Given the description of an element on the screen output the (x, y) to click on. 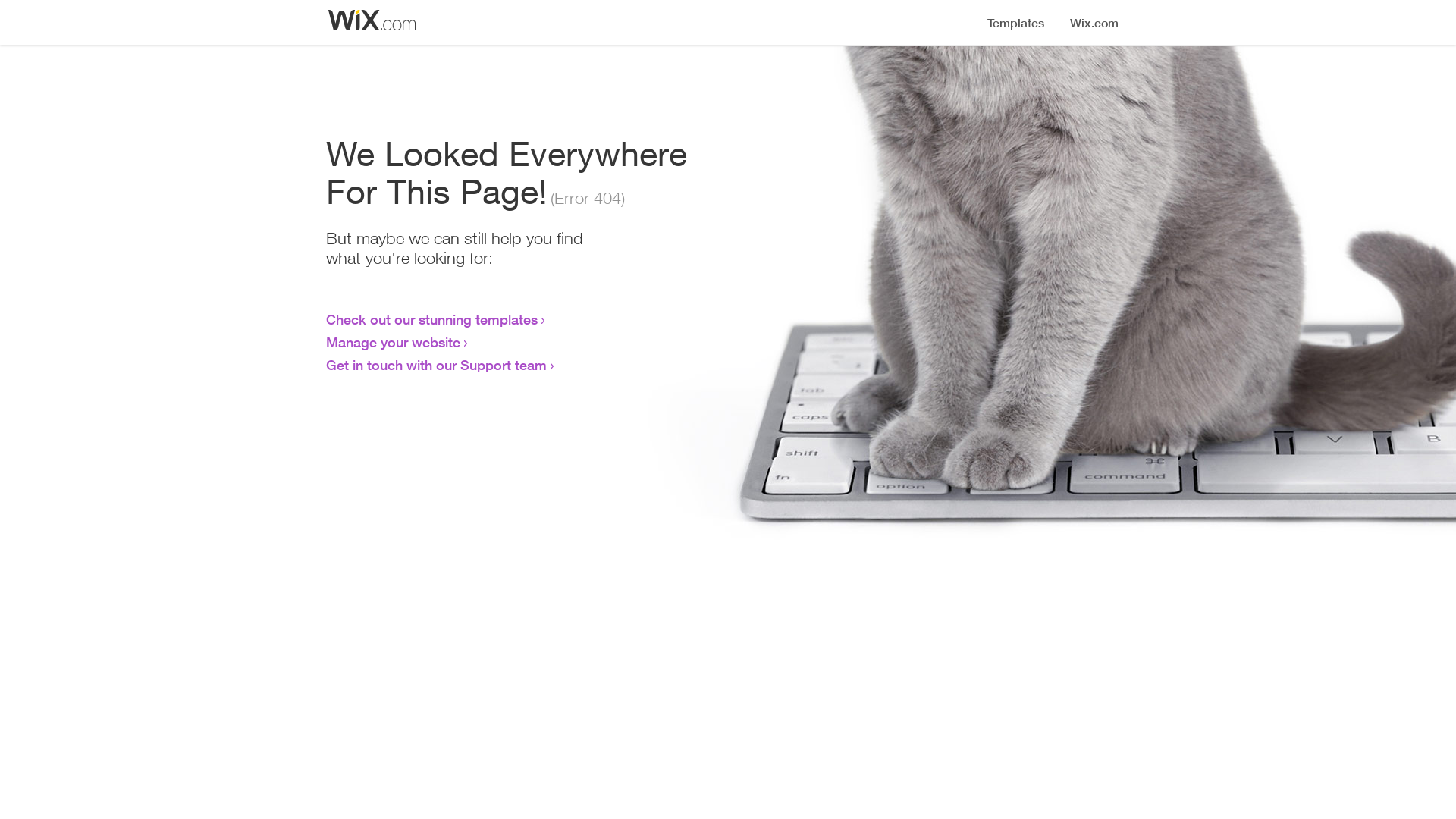
Get in touch with our Support team Element type: text (436, 364)
Check out our stunning templates Element type: text (431, 318)
Manage your website Element type: text (393, 341)
